Given the description of an element on the screen output the (x, y) to click on. 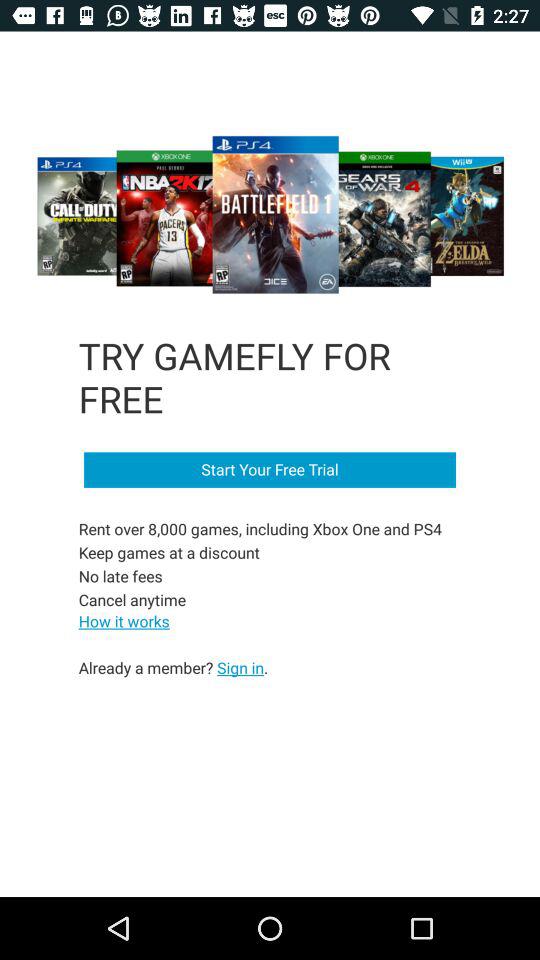
turn off rent over 8 item (262, 564)
